Given the description of an element on the screen output the (x, y) to click on. 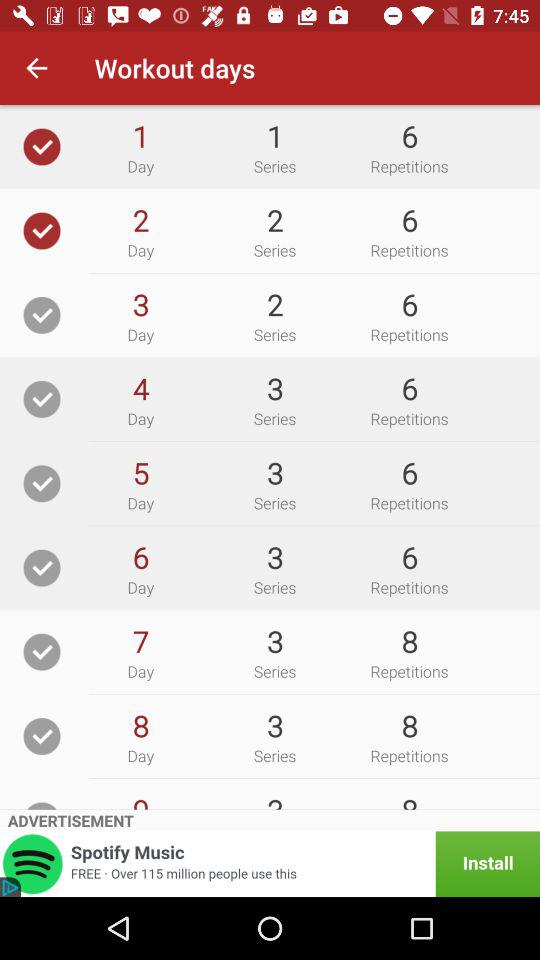
selected box (41, 230)
